Given the description of an element on the screen output the (x, y) to click on. 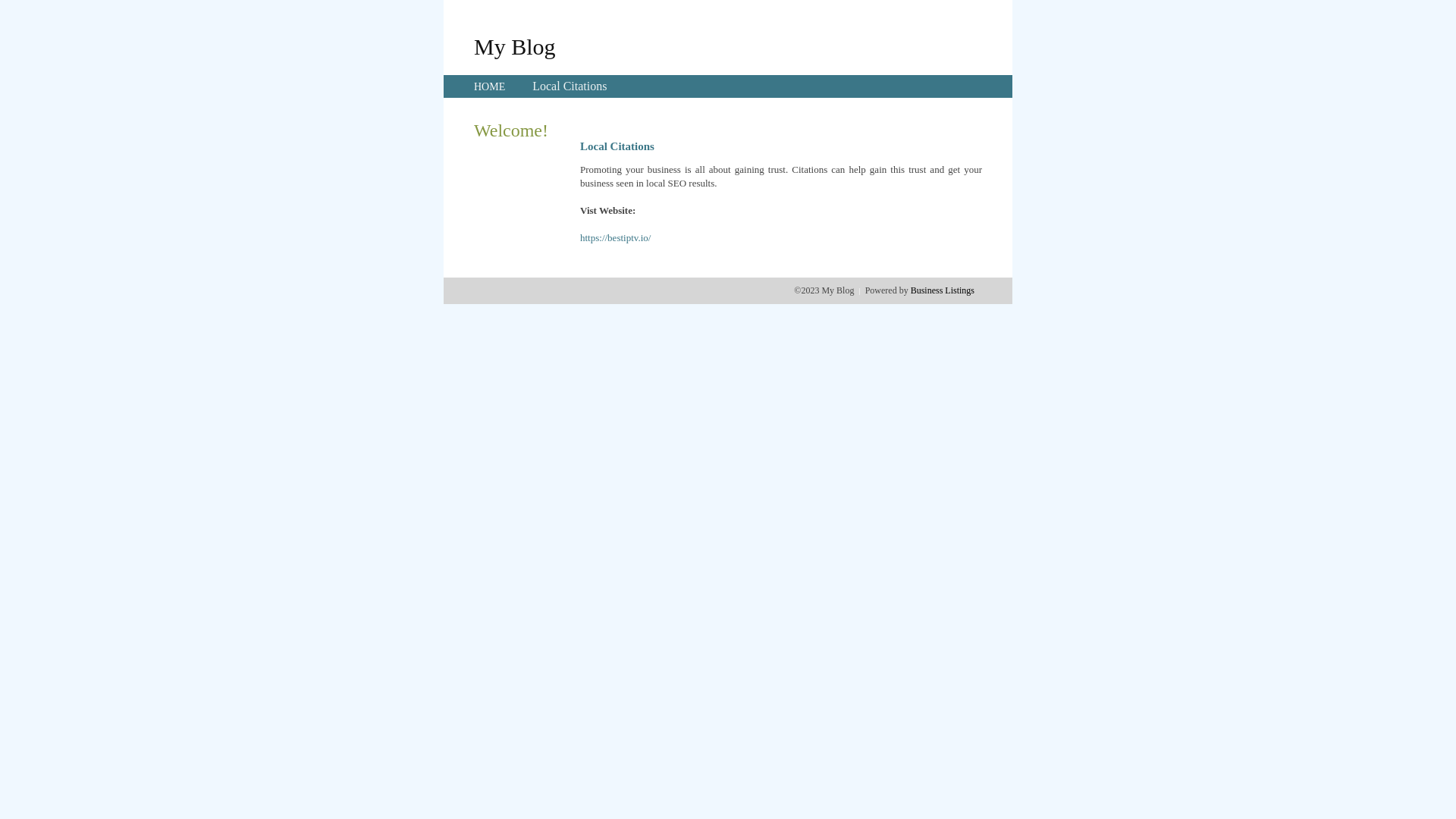
Business Listings Element type: text (942, 290)
My Blog Element type: text (514, 46)
Local Citations Element type: text (569, 85)
https://bestiptv.io/ Element type: text (615, 237)
HOME Element type: text (489, 86)
